Given the description of an element on the screen output the (x, y) to click on. 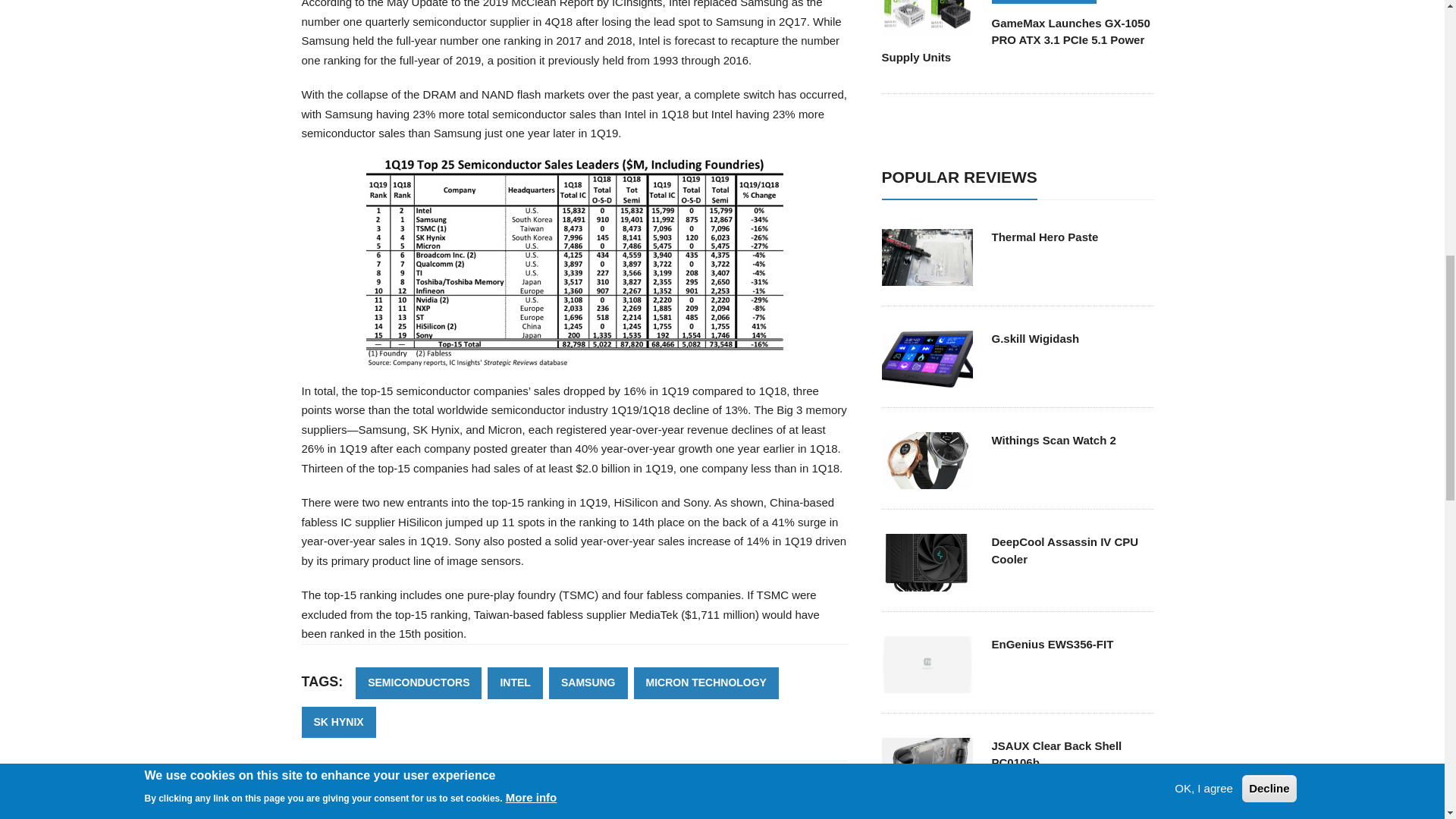
MICRON TECHNOLOGY (705, 683)
SK HYNIX (338, 722)
SEMICONDUCTORS (418, 683)
SAMSUNG (587, 683)
LG Develops its Own AI Chip For Home Appliances (696, 816)
INTEL (514, 683)
